Given the description of an element on the screen output the (x, y) to click on. 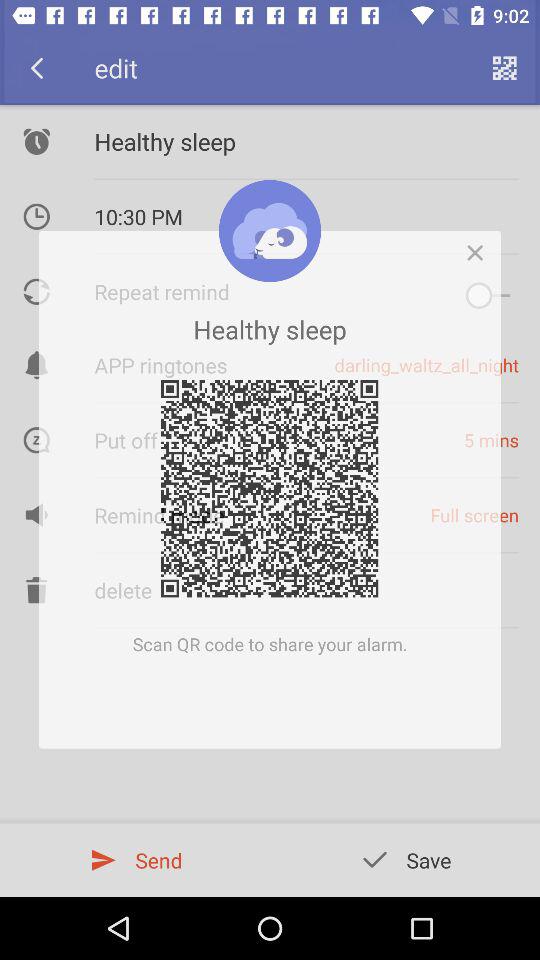
press item above scan qr code (480, 246)
